Given the description of an element on the screen output the (x, y) to click on. 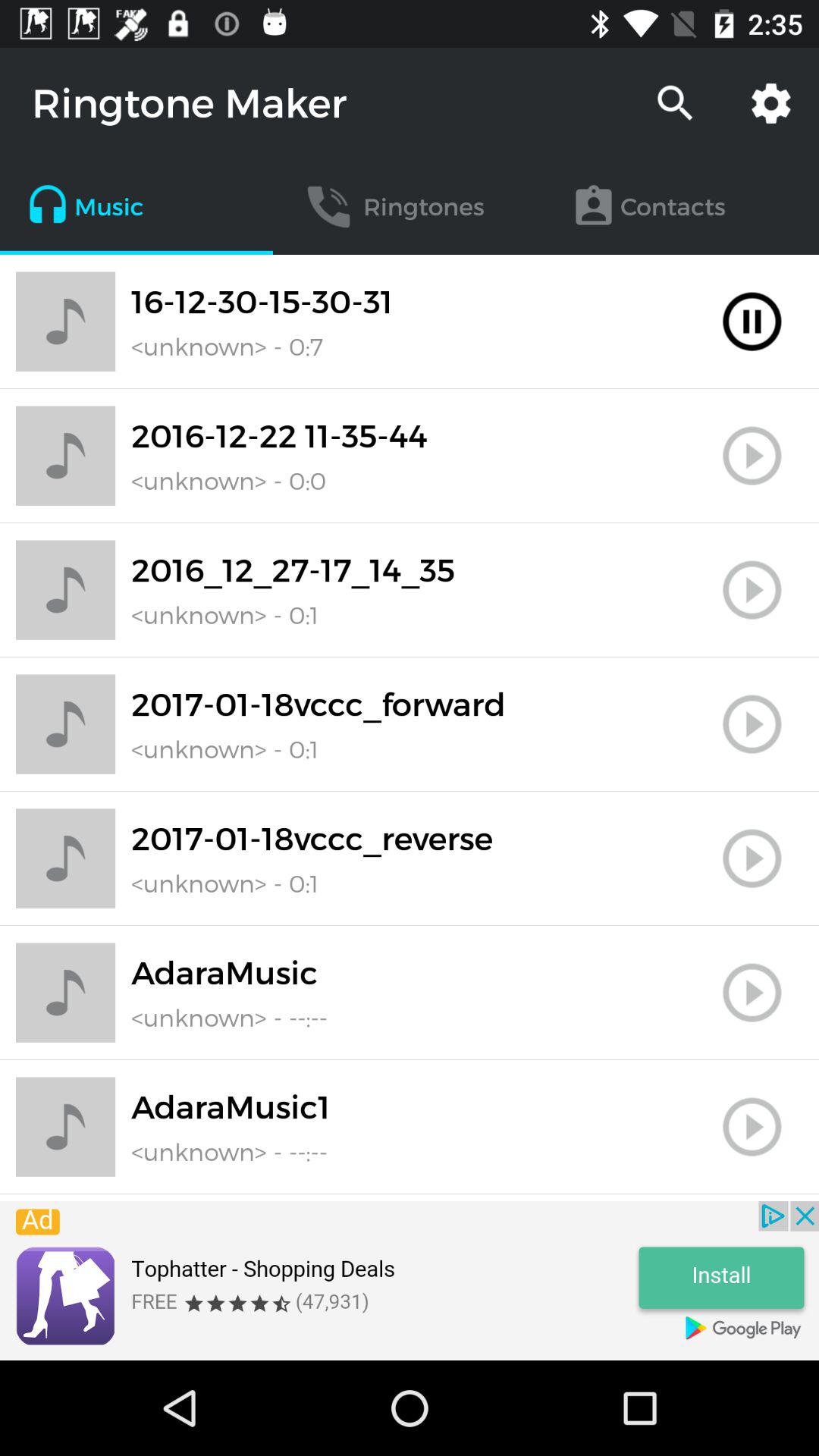
play button (752, 858)
